Given the description of an element on the screen output the (x, y) to click on. 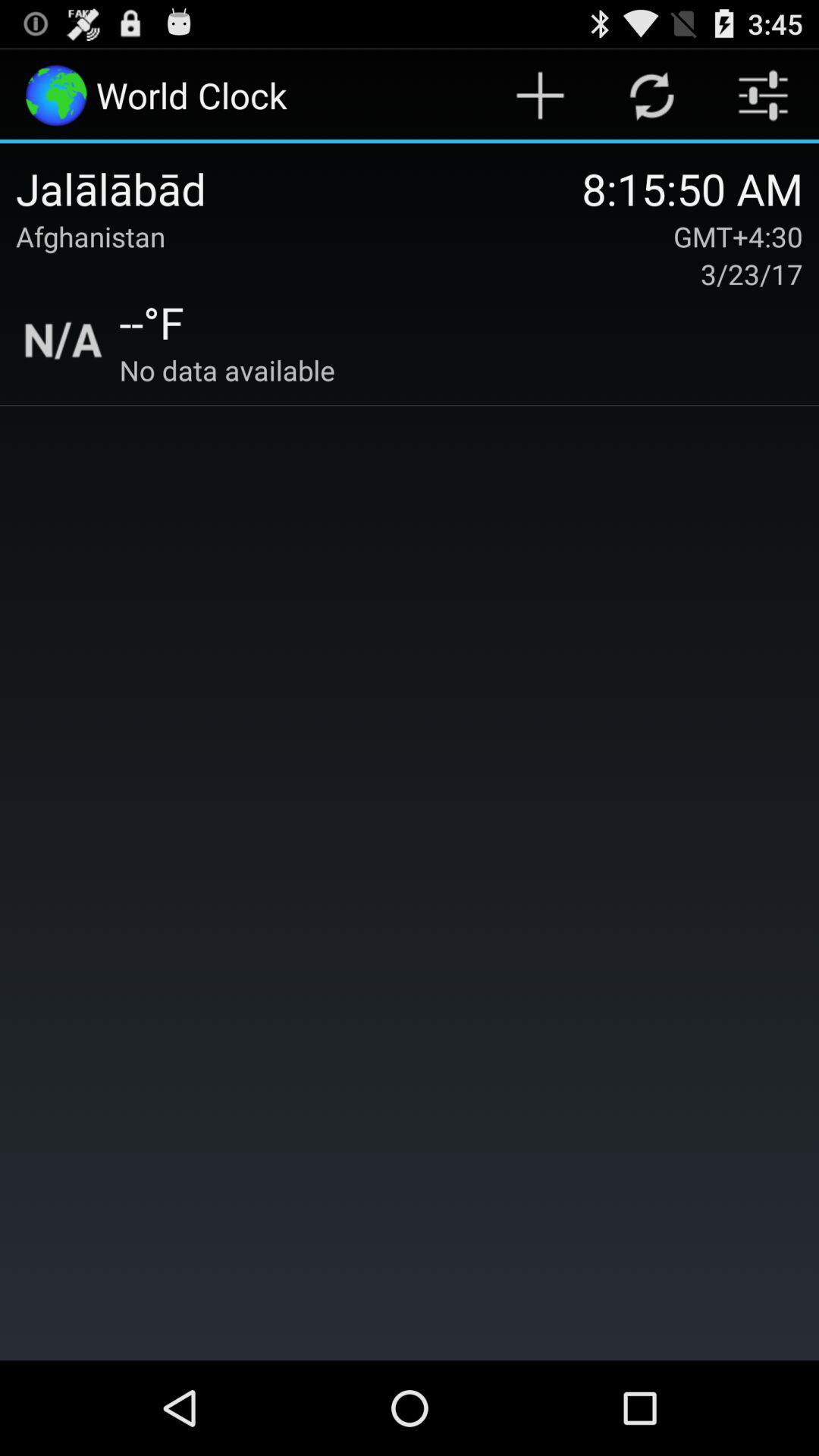
tap 3/23/17 icon (751, 273)
